Given the description of an element on the screen output the (x, y) to click on. 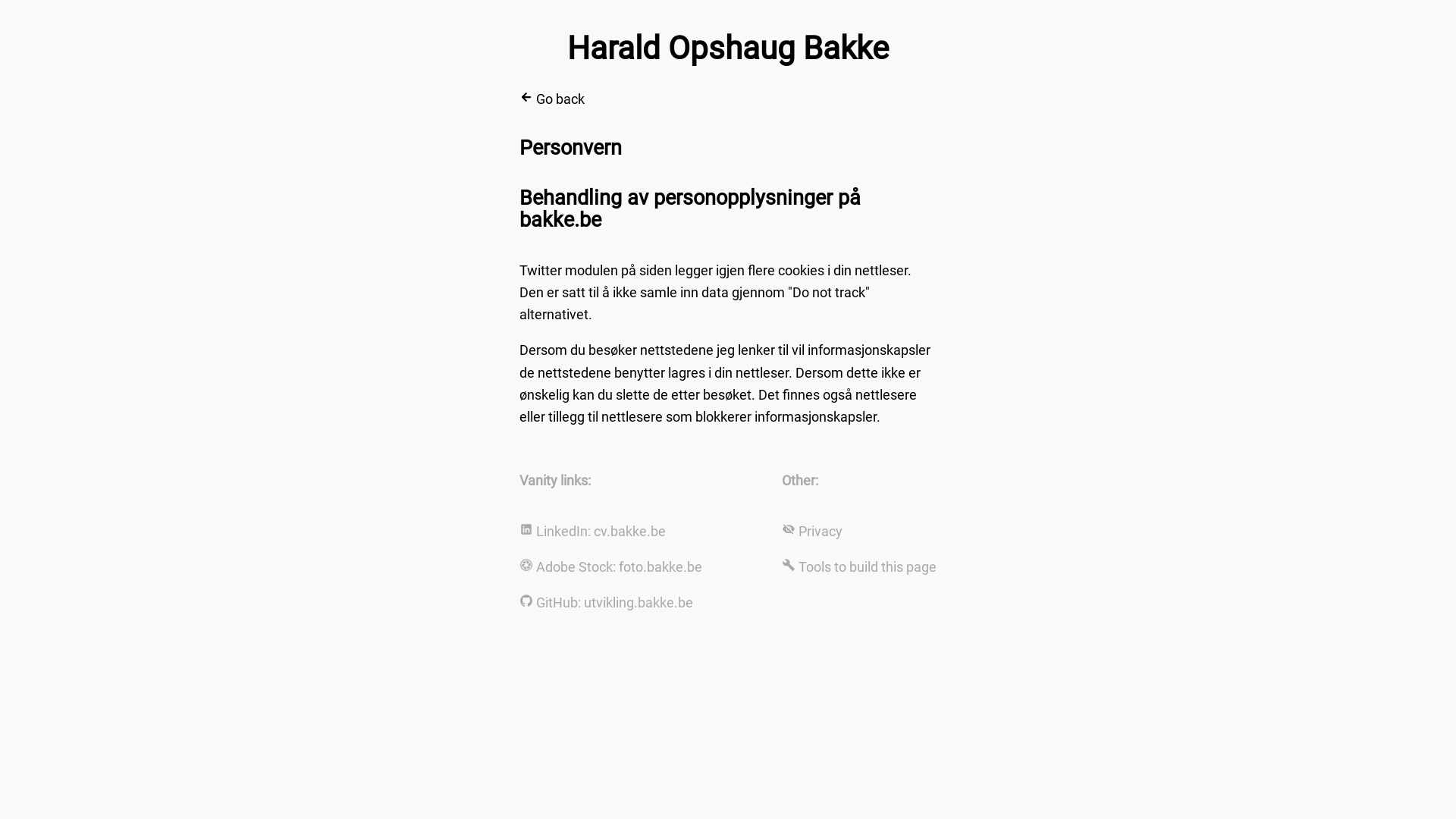
foto.bakke.be Element type: text (660, 566)
cv.bakke.be Element type: text (629, 531)
Twitter modulen Element type: text (568, 270)
Tools to build this page Element type: text (867, 566)
Go back Element type: text (551, 98)
Harald Opshaug Bakke Element type: text (727, 47)
utvikling.bakke.be Element type: text (638, 602)
tillegg til nettlesere Element type: text (605, 416)
Privacy Element type: text (820, 531)
"Do not track" alternativet Element type: text (694, 303)
